Given the description of an element on the screen output the (x, y) to click on. 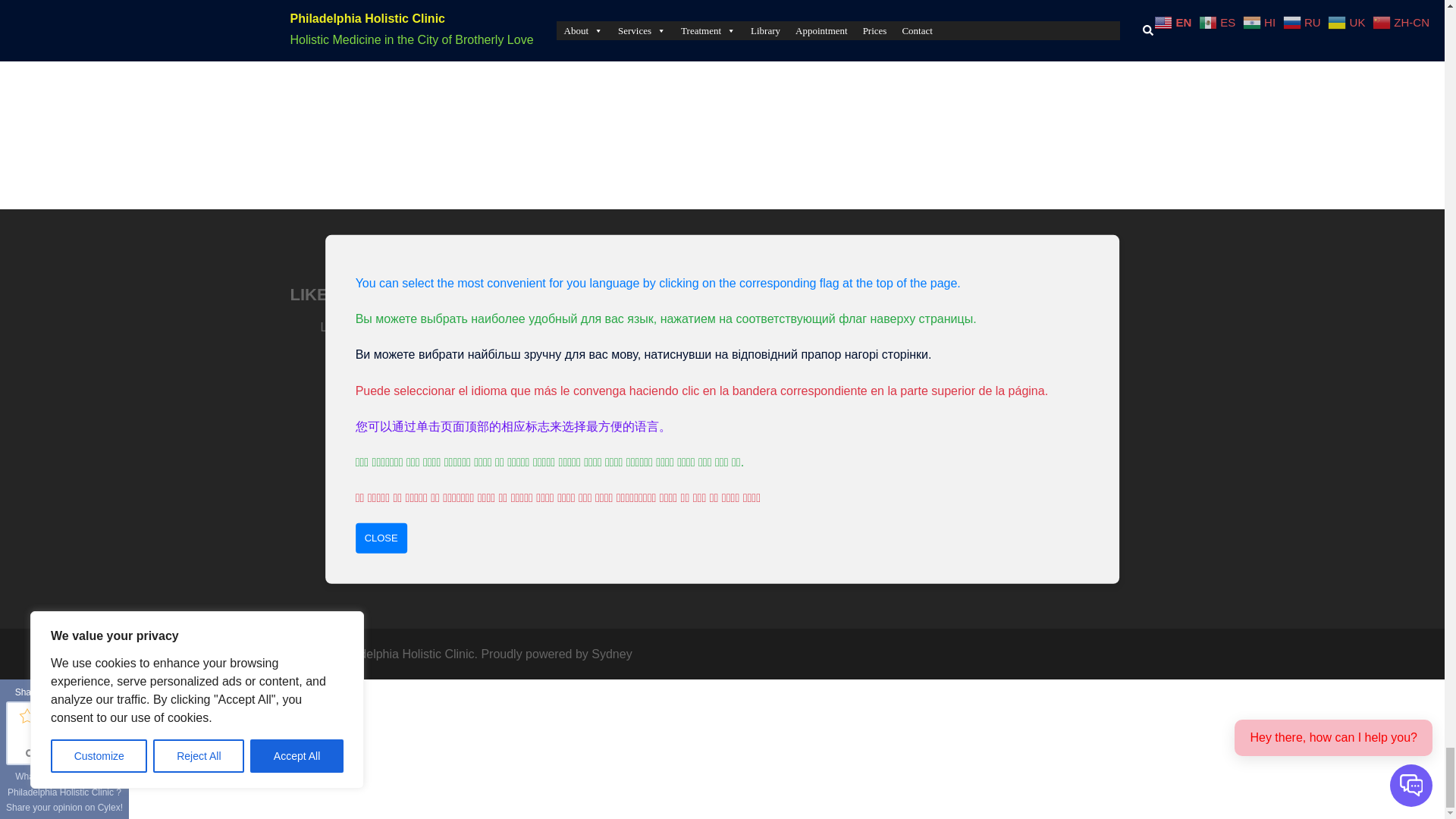
Post Comment (599, 23)
Philadelphia Holistic Clinic (631, 470)
